Given the description of an element on the screen output the (x, y) to click on. 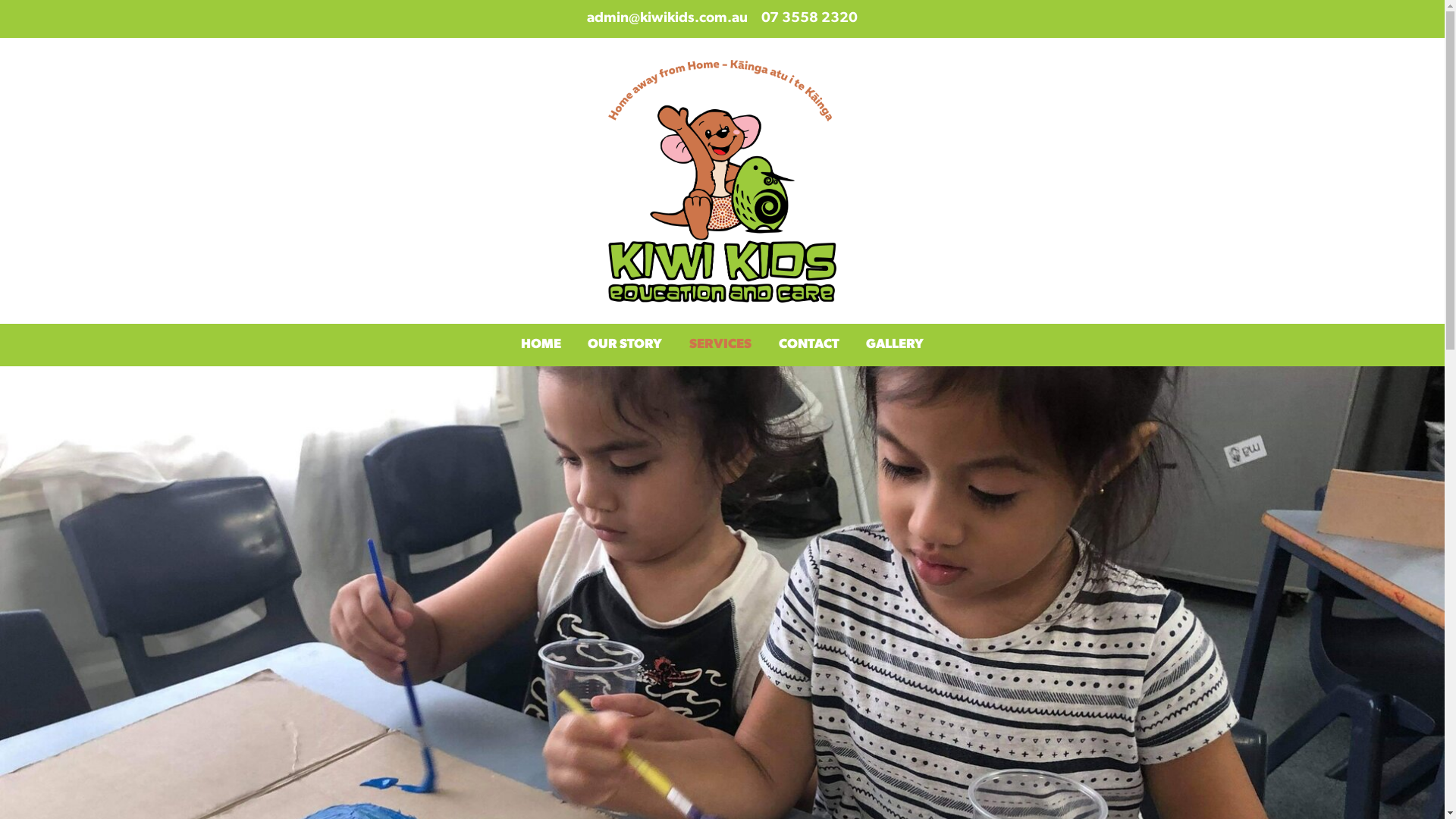
SERVICES Element type: text (720, 344)
OUR STORY Element type: text (625, 344)
CONTACT Element type: text (809, 344)
HOME Element type: text (540, 344)
admin@kiwikids.com.au Element type: text (666, 18)
GALLERY Element type: text (894, 344)
